Given the description of an element on the screen output the (x, y) to click on. 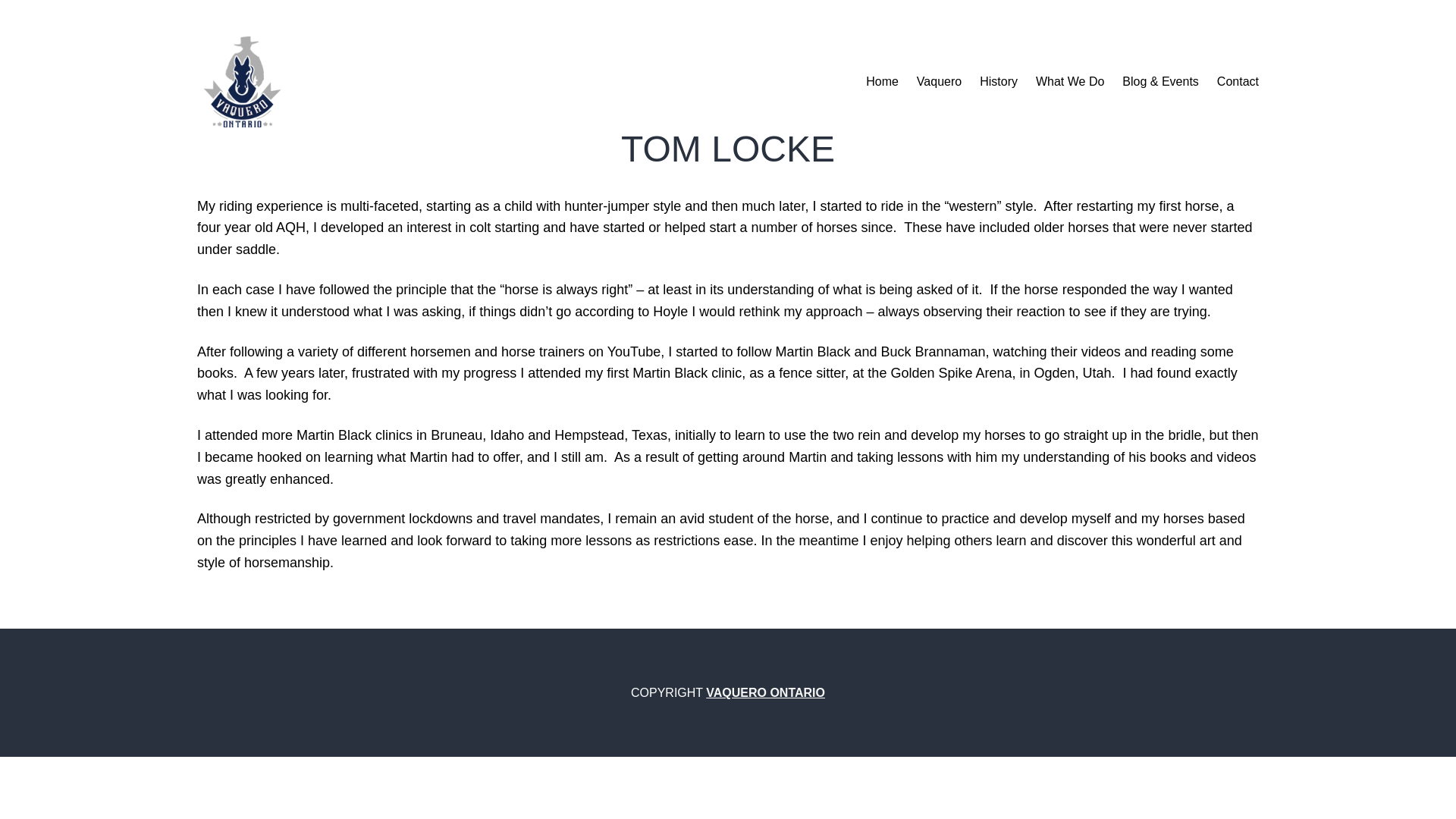
Contact (1238, 81)
What We Do (1069, 81)
Home (882, 81)
Vaquero (938, 81)
History (998, 81)
VAQUERO ONTARIO (765, 692)
